Given the description of an element on the screen output the (x, y) to click on. 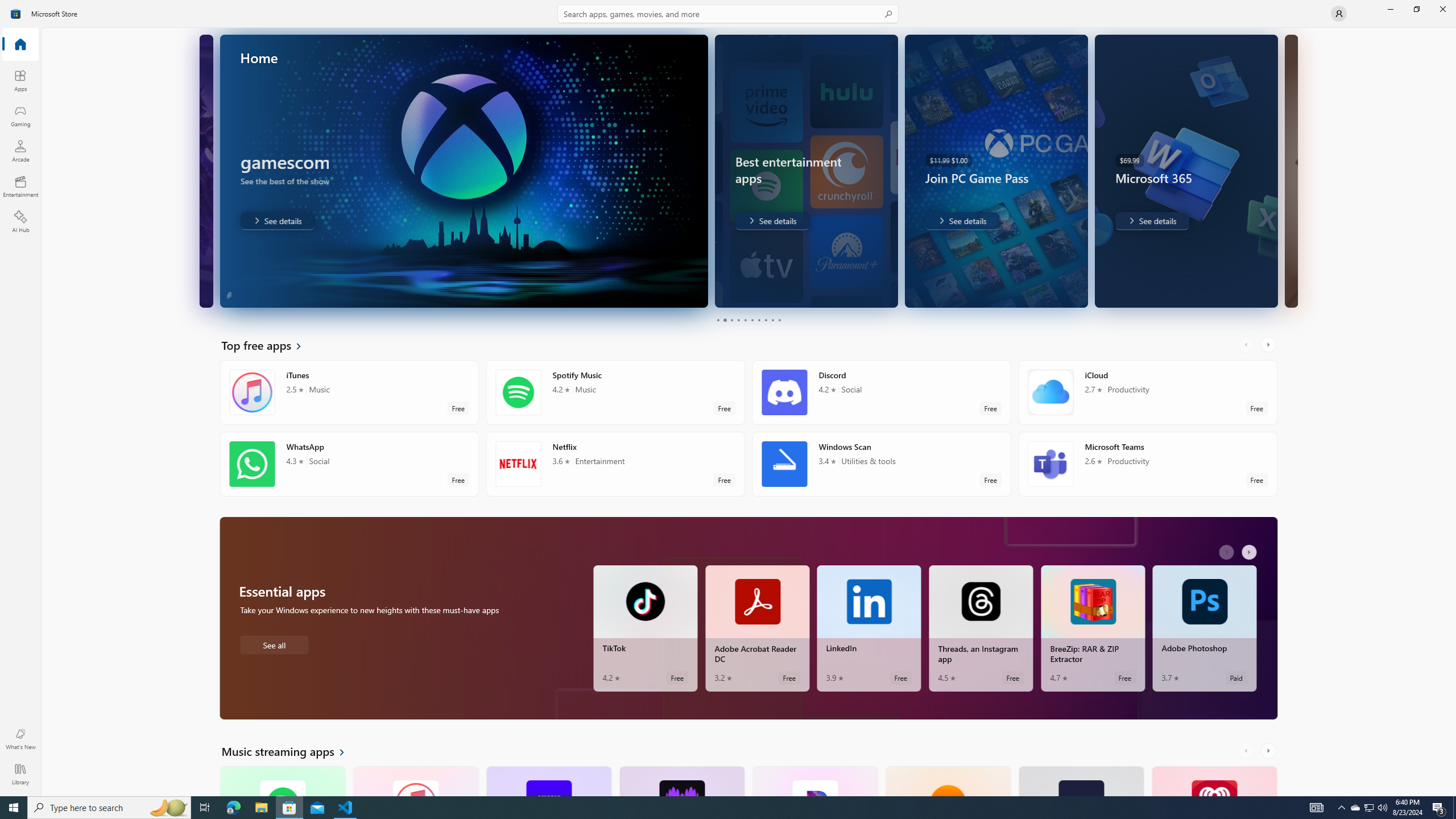
iCloud. Average rating of 2.7 out of five stars. Free   (1146, 392)
Page 2 (724, 319)
Page 4 (738, 319)
Close Microsoft Store (1442, 9)
Library (20, 773)
Pandora. Average rating of 4.5 out of five stars. Free   (814, 780)
AI Hub (20, 221)
Netflix. Average rating of 3.6 out of five stars. Free   (615, 463)
Page 5 (744, 319)
See all  Music streaming apps (289, 750)
AutomationID: Image (1290, 170)
TikTok. Average rating of 4.2 out of five stars. Free   (644, 628)
Discord. Average rating of 4.2 out of five stars. Free   (881, 392)
